Given the description of an element on the screen output the (x, y) to click on. 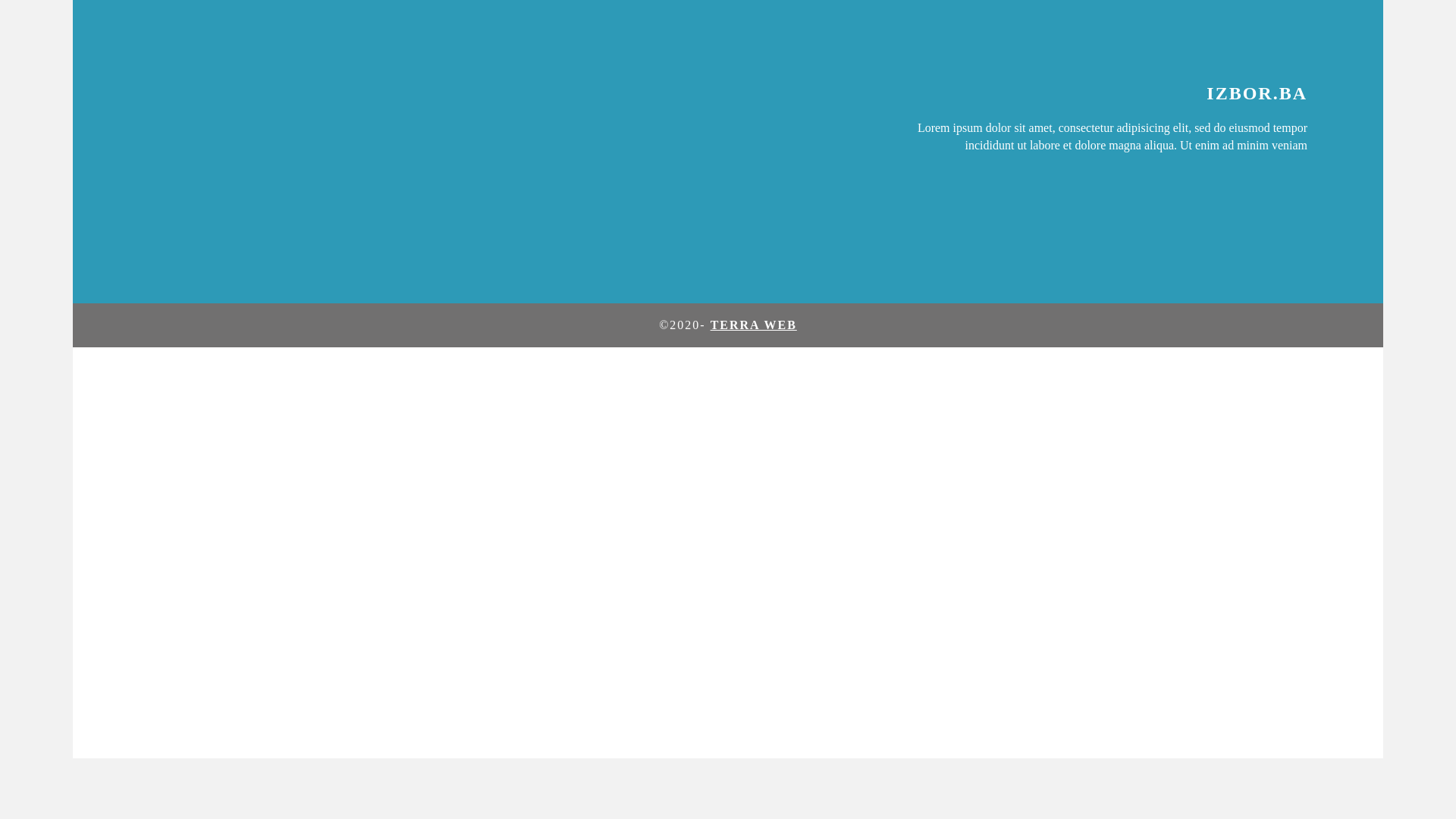
TERRA WEB Element type: text (753, 324)
